Given the description of an element on the screen output the (x, y) to click on. 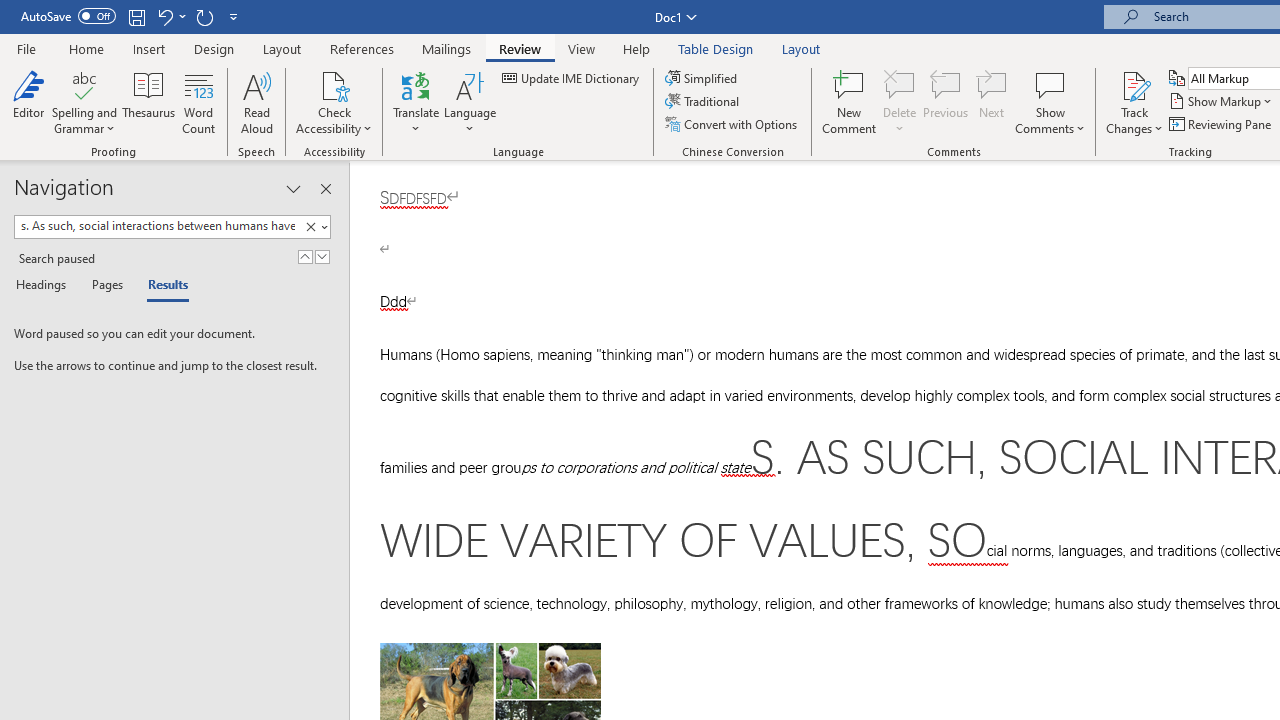
Repeat Style (204, 15)
Clear (310, 227)
Spelling and Grammar (84, 102)
Convert with Options... (732, 124)
New Comment (849, 102)
Previous Result (304, 256)
Simplified (702, 78)
Show Markup (1222, 101)
Check Accessibility (334, 84)
